Given the description of an element on the screen output the (x, y) to click on. 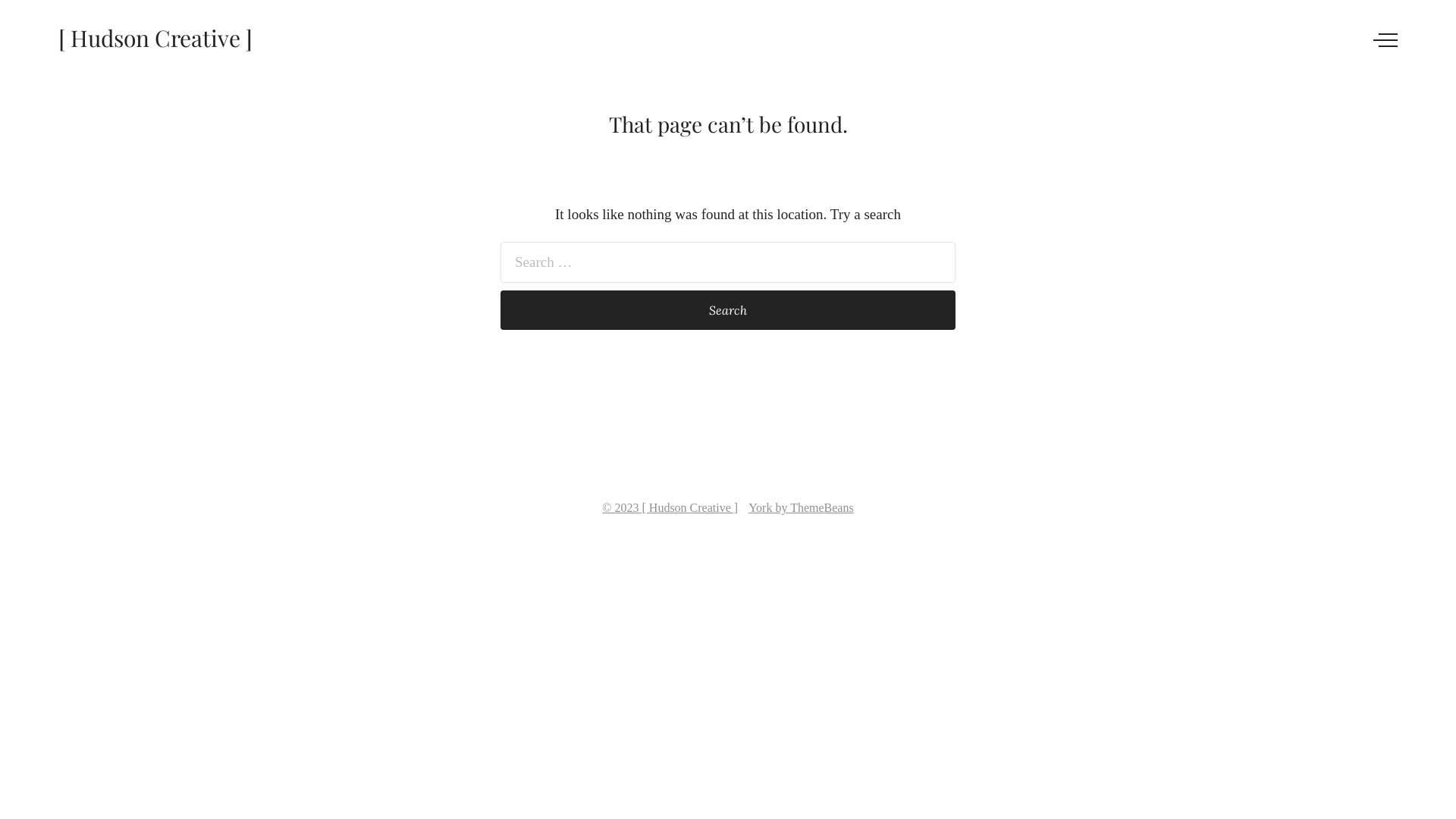
Search Element type: text (727, 309)
[ Hudson Creative ] Element type: text (155, 37)
York by ThemeBeans Element type: text (800, 507)
